Given the description of an element on the screen output the (x, y) to click on. 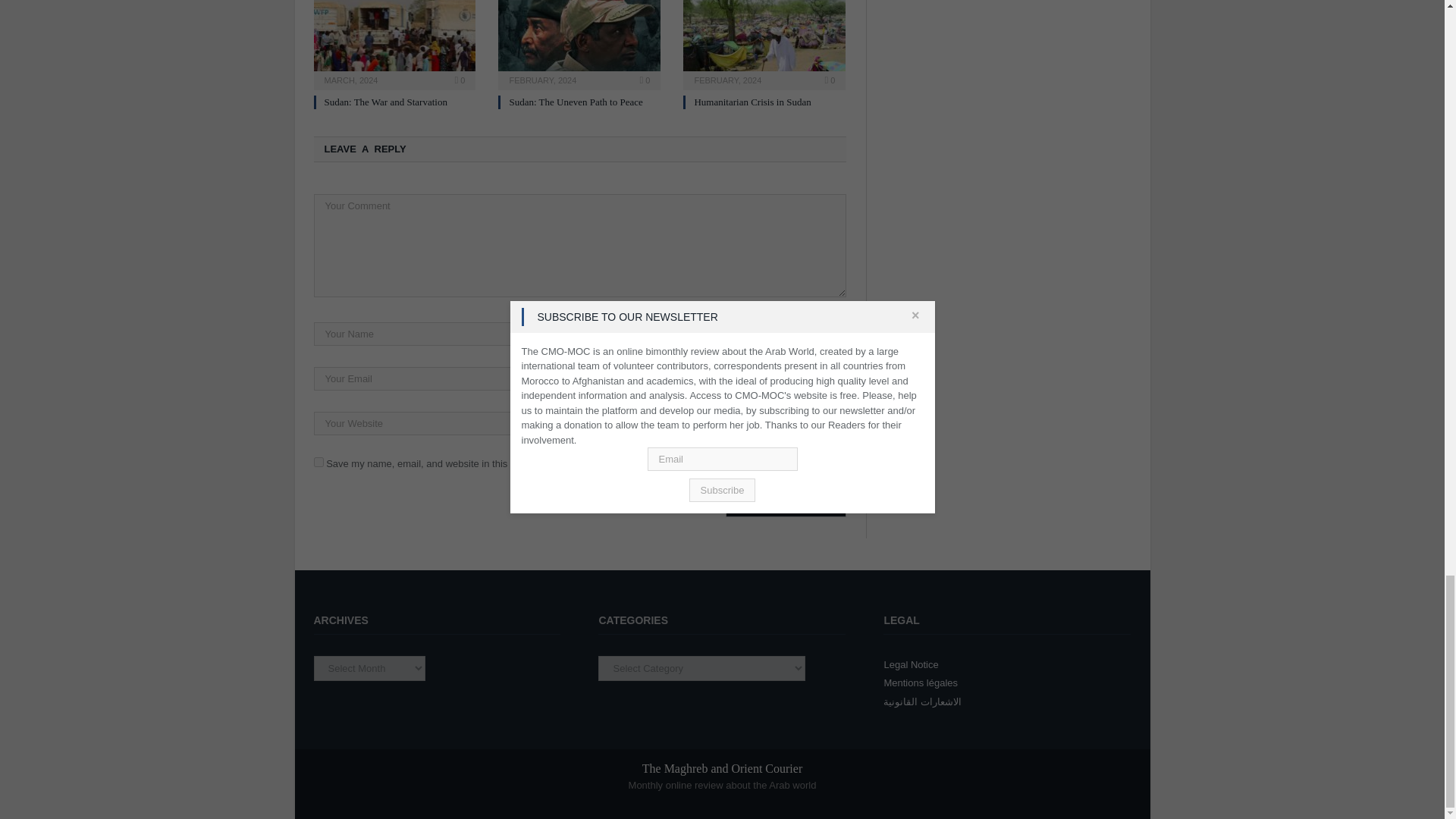
yes (318, 461)
Post Comment (785, 504)
